Given the description of an element on the screen output the (x, y) to click on. 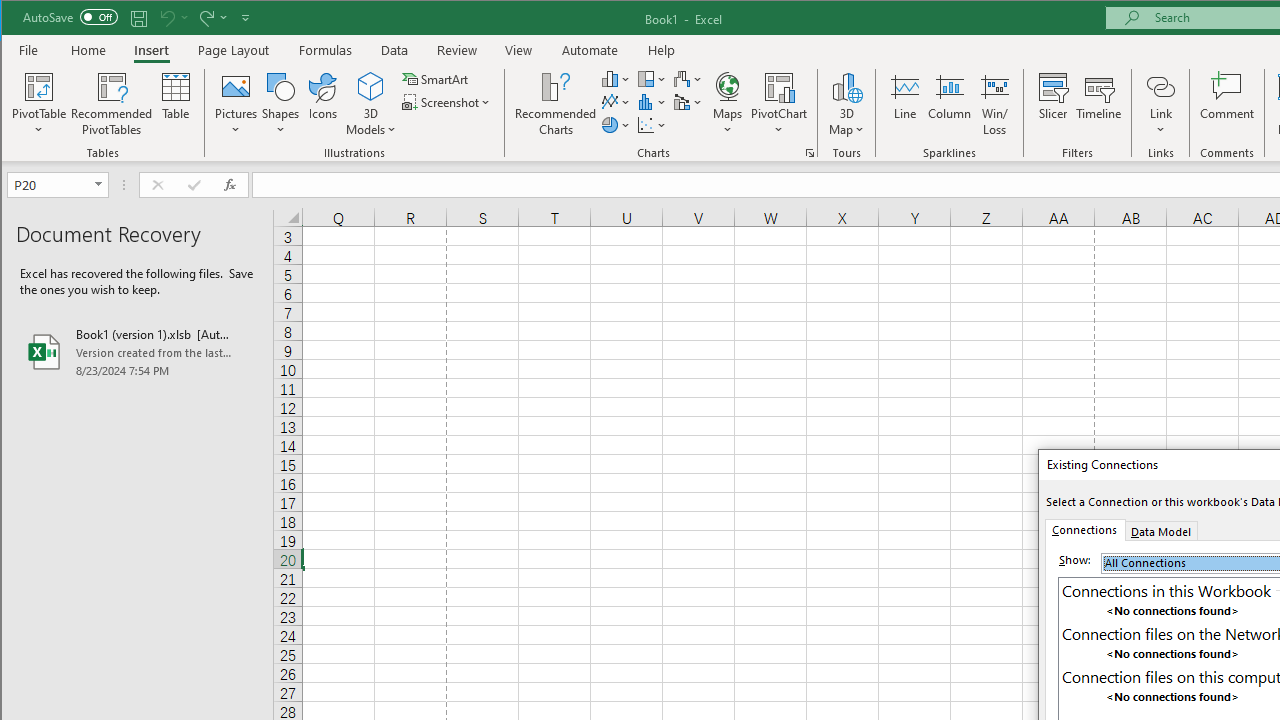
Connections (1083, 529)
